Given the description of an element on the screen output the (x, y) to click on. 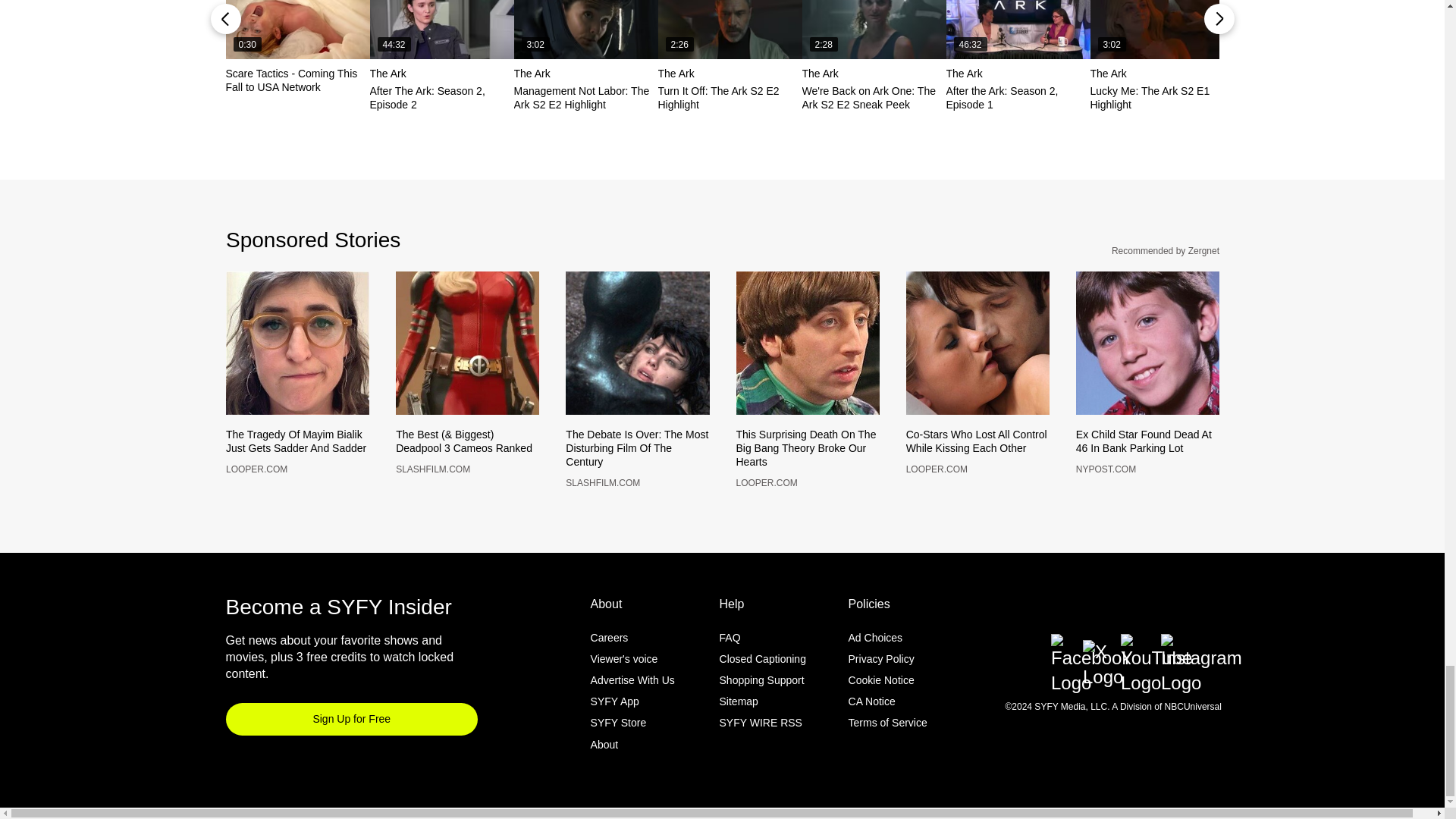
Lucky Me: The Ark S2 E1 Highlight (1162, 29)
Management Not Labor: The Ark S2 E2 Highlight (585, 29)
After The Ark: Season 2, Episode 2 (441, 29)
After the Ark: Season 2, Episode 1 (1018, 29)
We're Back on Ark One: The Ark S2 E2 Sneak Peek (874, 29)
Advertise With Us (633, 705)
Turn It Off: The Ark S2 E2 Highlight (730, 29)
Scare Tactics - Coming This Fall to USA Network (297, 29)
